Given the description of an element on the screen output the (x, y) to click on. 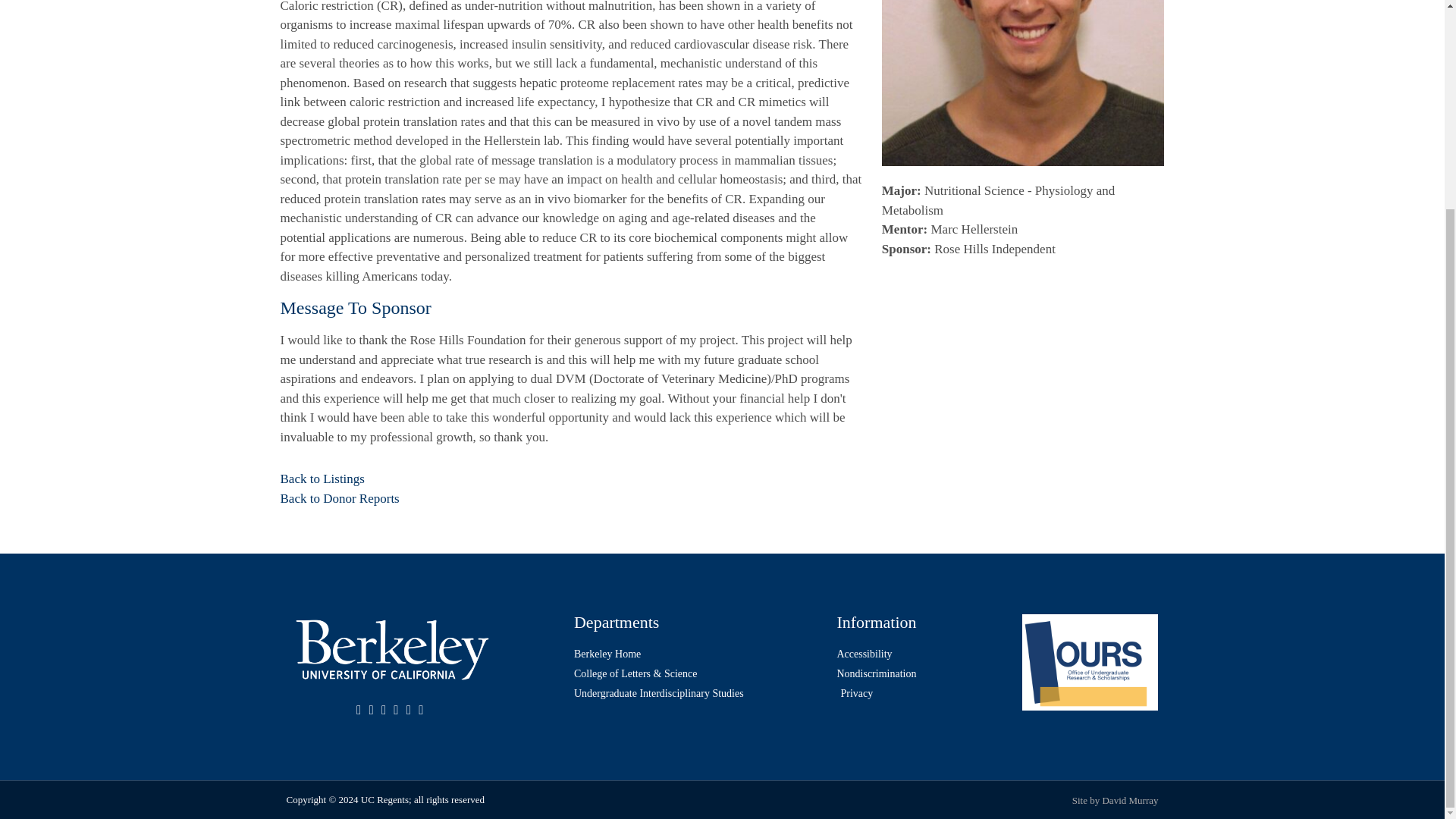
Back to Donor Reports (339, 498)
Berkeley Home (697, 653)
Back to Listings (323, 478)
